Given the description of an element on the screen output the (x, y) to click on. 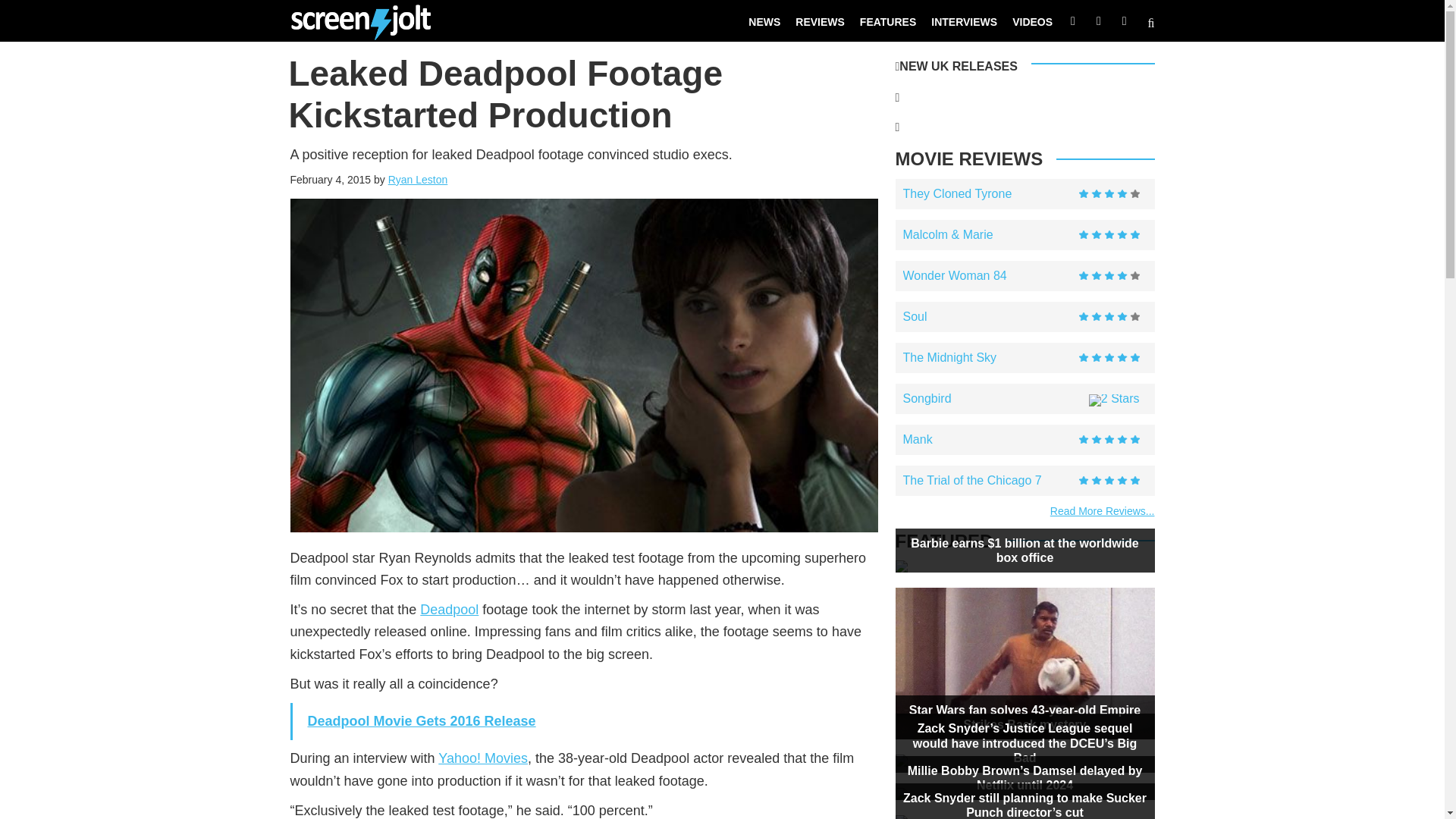
Ryan Leston (418, 179)
2 Stars (1114, 399)
5 Stars (1108, 480)
REVIEWS (819, 20)
Deadpool Movie Gets 2016 Release (421, 720)
Deadpool (449, 609)
VIDEOS (1031, 20)
5 Stars (1108, 357)
FEATURES (887, 20)
Yahoo! Movies (482, 758)
5 Stars (1108, 439)
INTERVIEWS (963, 20)
4 Stars (1108, 194)
4 Stars (1108, 316)
